Given the description of an element on the screen output the (x, y) to click on. 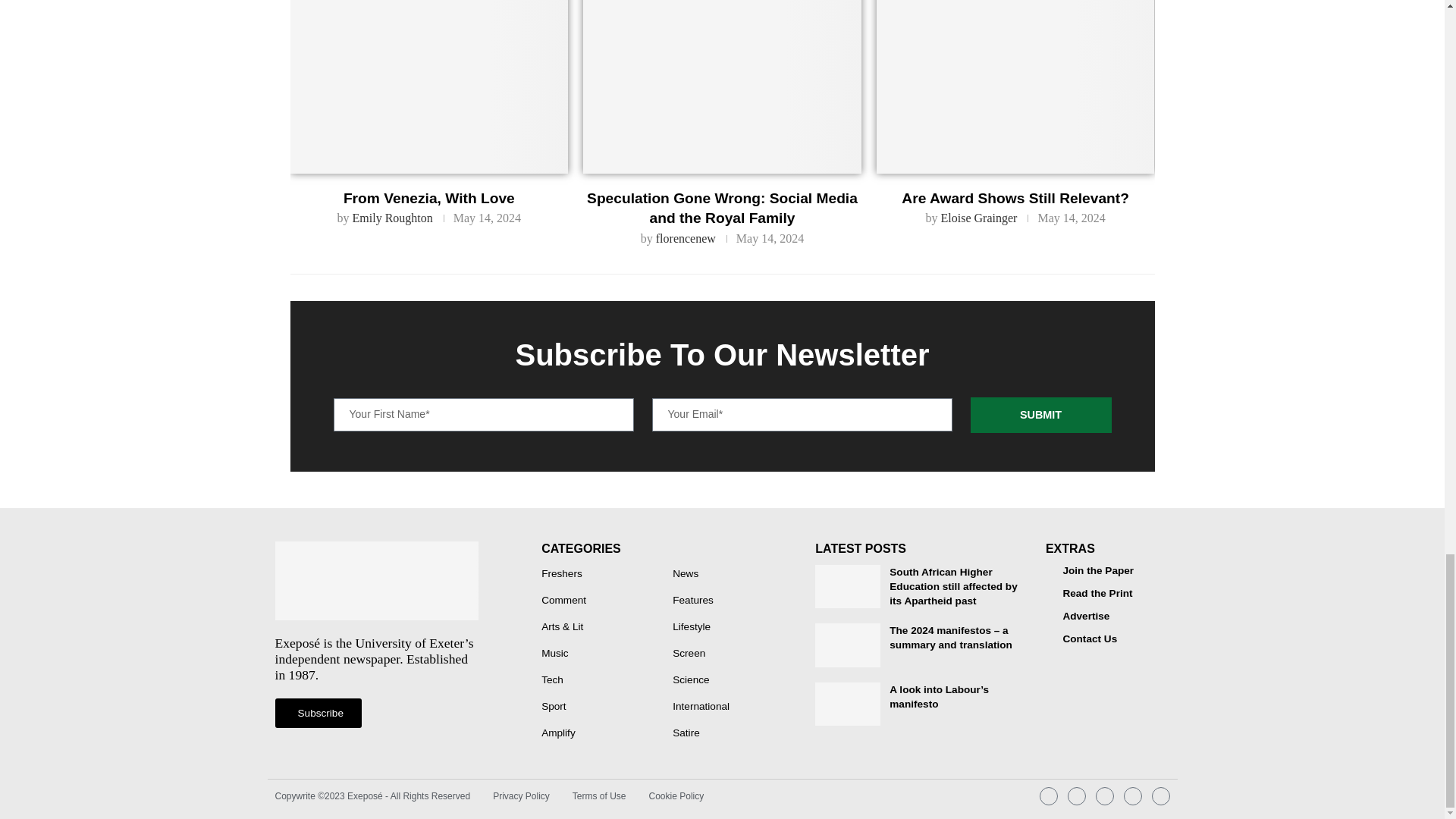
florencenew (686, 237)
Speculation Gone Wrong: Social Media and the Royal Family (722, 86)
Are Award Shows Still Relevant? (1015, 86)
Emily Roughton (392, 217)
From Venezia, With Love (428, 86)
Eloise Grainger (978, 217)
